Given the description of an element on the screen output the (x, y) to click on. 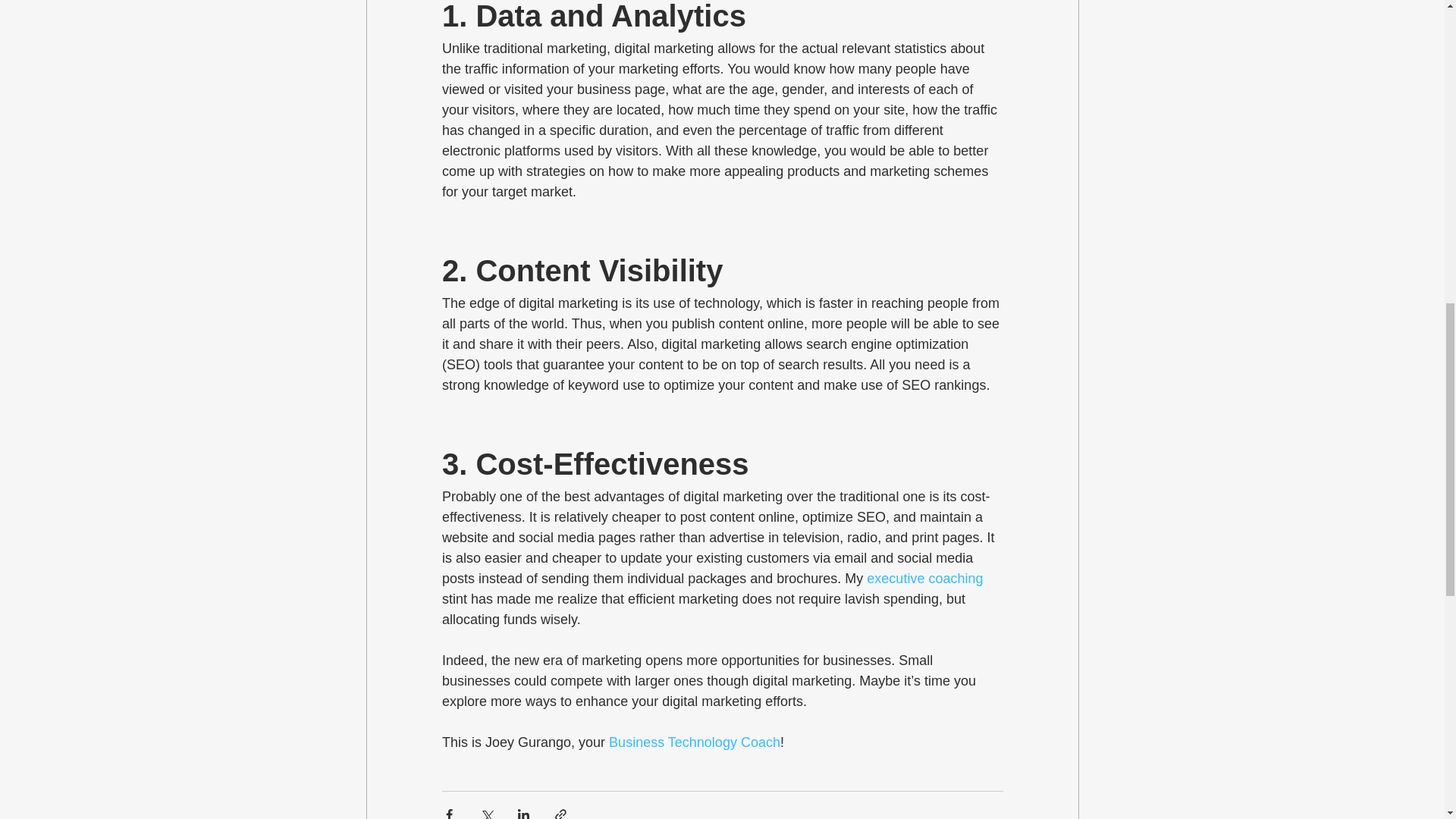
Business Technology Coach (694, 742)
executive coaching (924, 578)
